Given the description of an element on the screen output the (x, y) to click on. 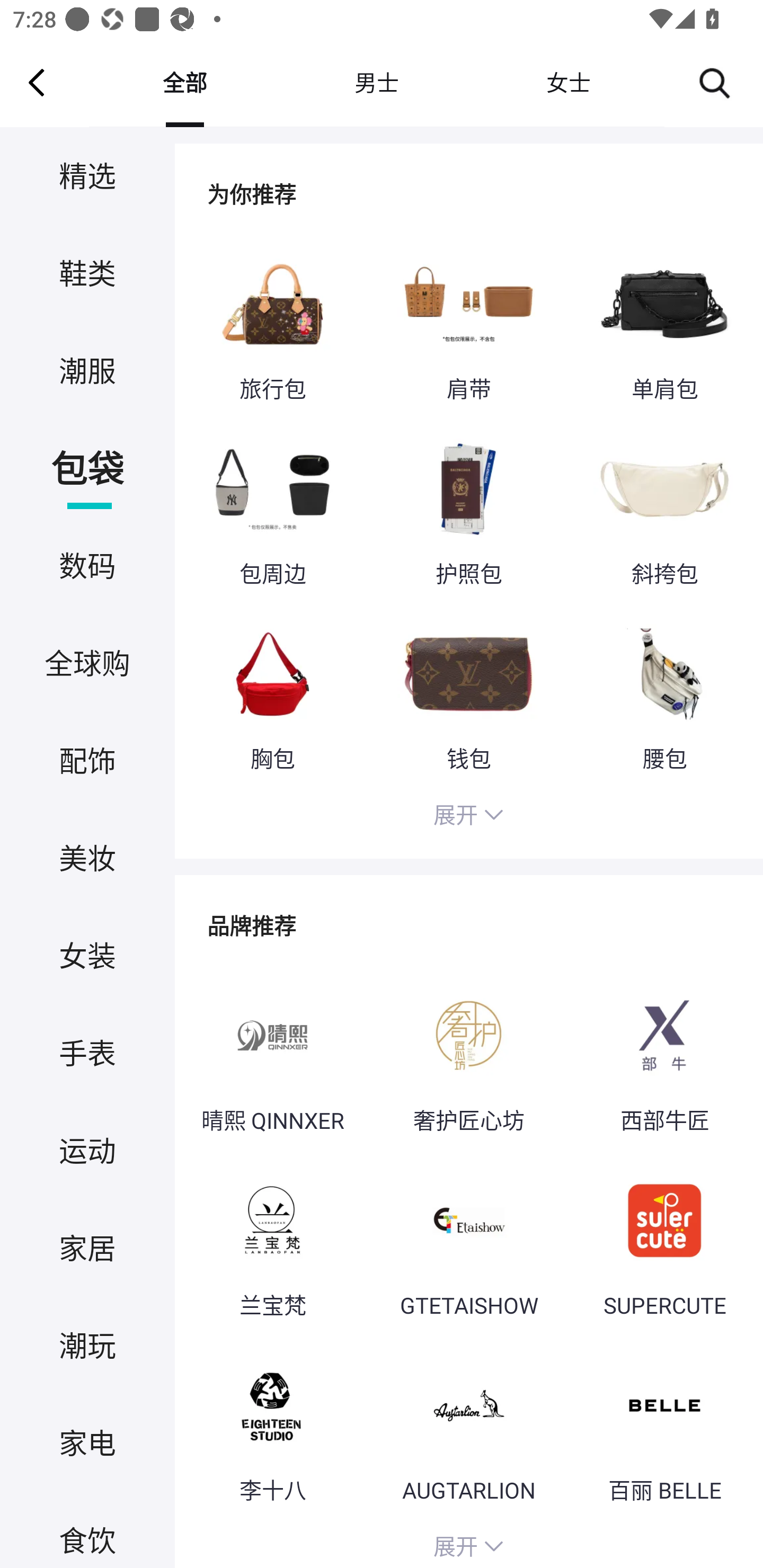
Navigate up (36, 82)
全部 (184, 82)
男士 (376, 82)
女士 (568, 82)
旅行包 (272, 325)
肩带 (468, 325)
单肩包 (664, 325)
包周边 (272, 510)
护照包 (468, 510)
斜挎包 (664, 510)
胸包 (272, 694)
钱包 (468, 694)
腰包 (664, 694)
展开  (468, 817)
晴熙 QINNXER (272, 1056)
奢护匠心坊 (468, 1056)
西部牛匠 (664, 1056)
兰宝梵 (272, 1241)
GTETAISHOW (468, 1241)
SUPERCUTE (664, 1241)
李十八 (272, 1426)
AUGTARLION (468, 1426)
百丽 BELLE (664, 1426)
展开  (468, 1543)
